Given the description of an element on the screen output the (x, y) to click on. 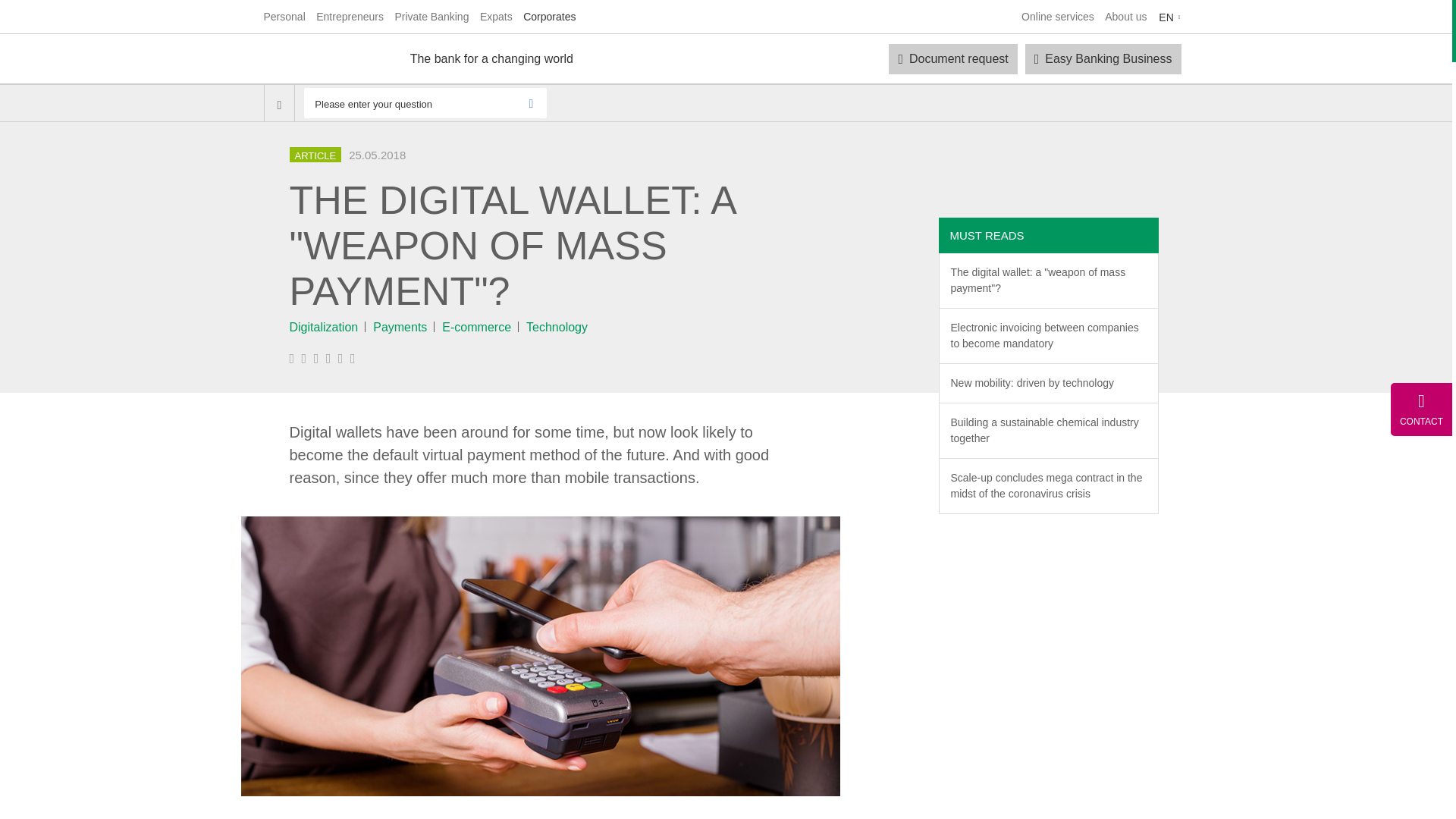
Entrepreneurs (349, 16)
Expats (496, 16)
Private Banking (431, 16)
Document request (952, 59)
E-commerce (476, 326)
Personal (284, 16)
Easy Banking Business (1102, 59)
Corporates (548, 16)
Payments (399, 326)
Technology (556, 326)
